Given the description of an element on the screen output the (x, y) to click on. 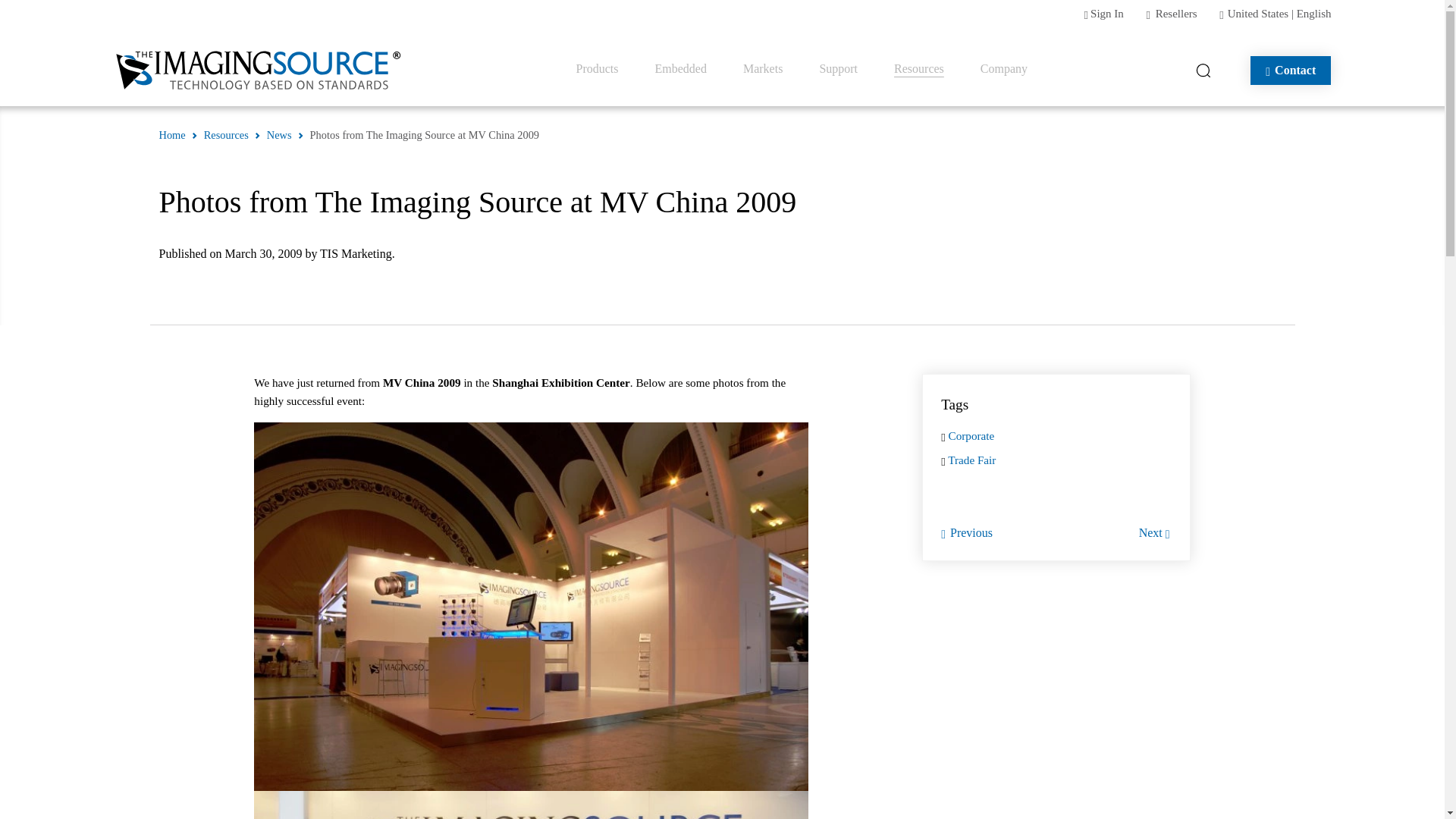
The Imaging Source, LLC (258, 70)
Sign In (1107, 13)
Resellers (1176, 13)
Products (597, 68)
